Given the description of an element on the screen output the (x, y) to click on. 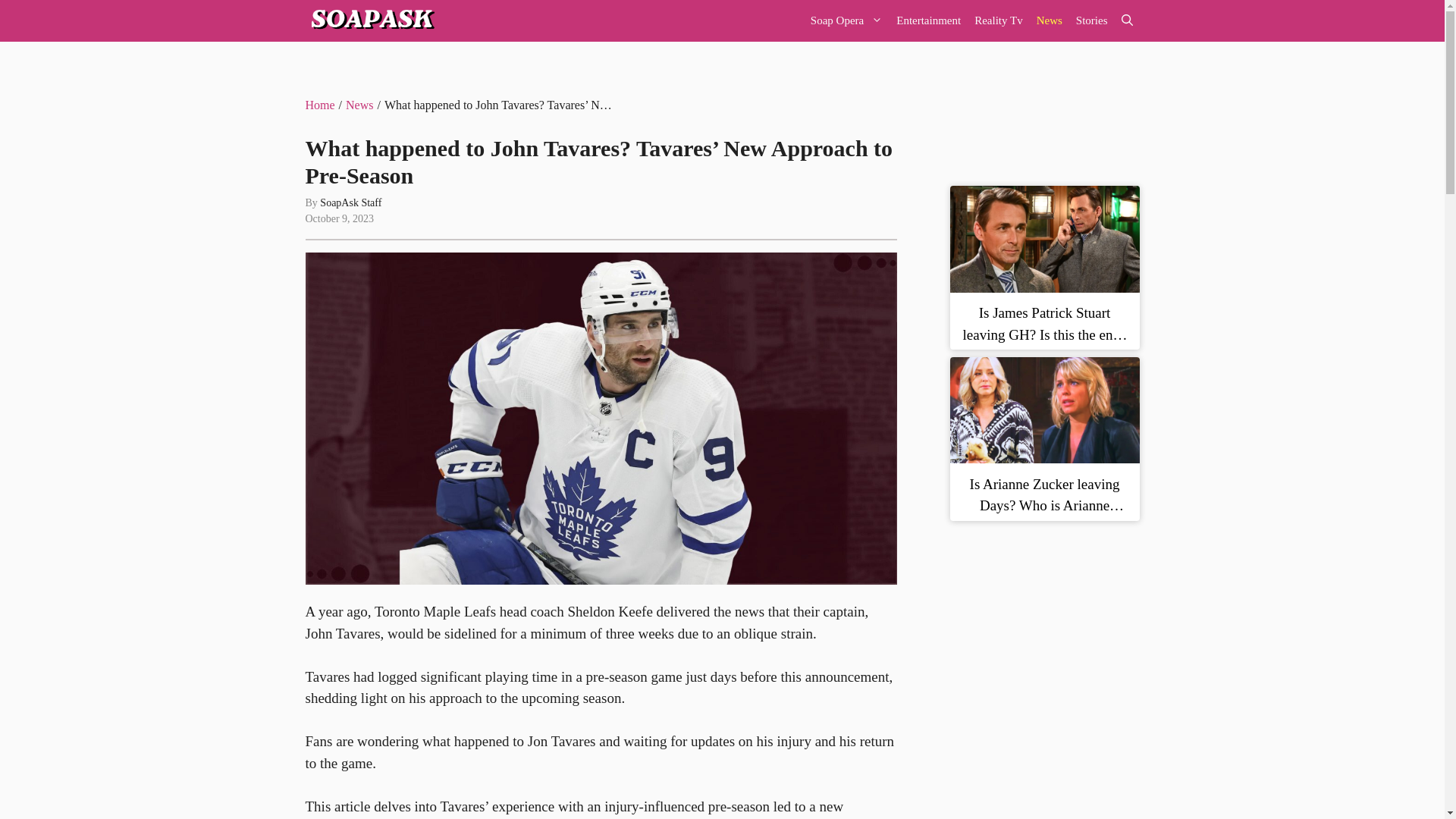
Soap Opera (846, 20)
View all posts by SoapAsk Staff (350, 202)
Is Arianne Zucker leaving Days? Who is Arianne Zucker? 4 (1043, 410)
SoapAsk (370, 20)
